Given the description of an element on the screen output the (x, y) to click on. 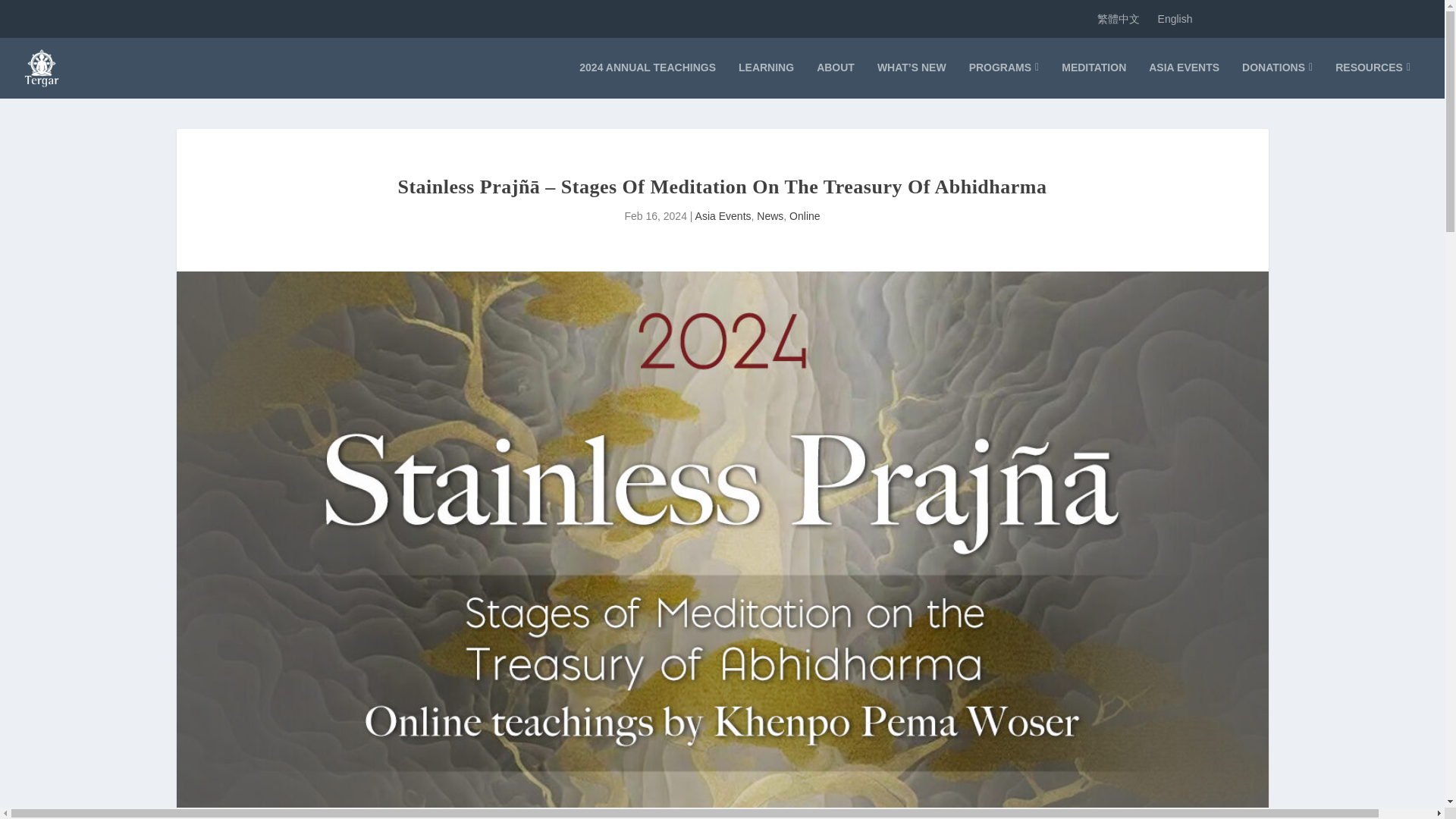
ASIA EVENTS (1184, 79)
DONATIONS (1277, 79)
ABOUT (835, 79)
2024 ANNUAL TEACHINGS (647, 79)
English (1174, 18)
MEDITATION (1093, 79)
RESOURCES (1372, 79)
News (770, 215)
English (1174, 18)
LEARNING (765, 79)
PROGRAMS (1004, 79)
Online (804, 215)
Asia Events (723, 215)
